Given the description of an element on the screen output the (x, y) to click on. 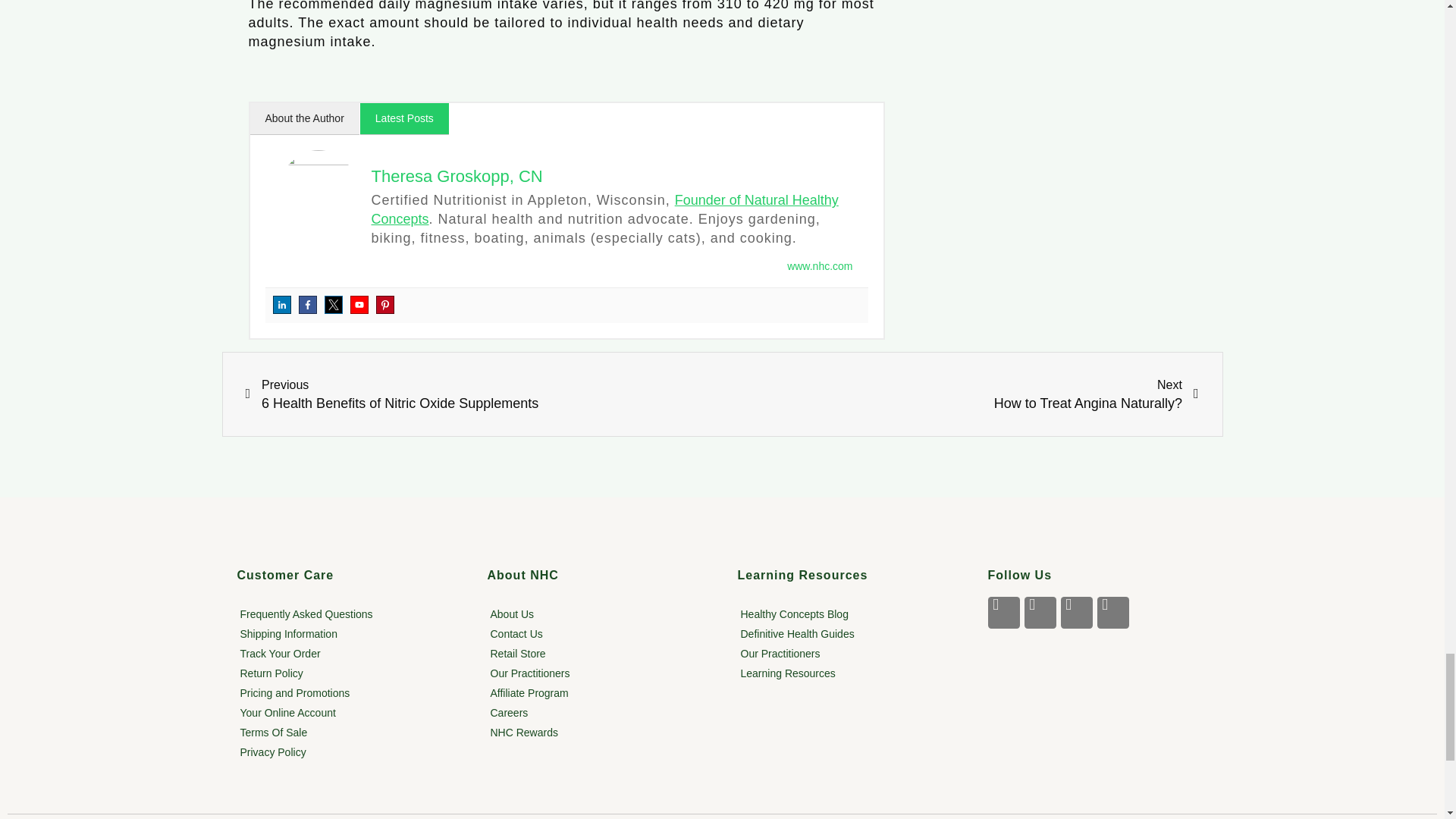
Pinterest (384, 304)
Linkedin (282, 304)
www.nhc.com (819, 265)
Founder of Natural Healthy Concepts (604, 209)
Twitter (333, 304)
Facebook (307, 304)
Youtube (359, 304)
Theresa Groskopp, CN (457, 176)
